Given the description of an element on the screen output the (x, y) to click on. 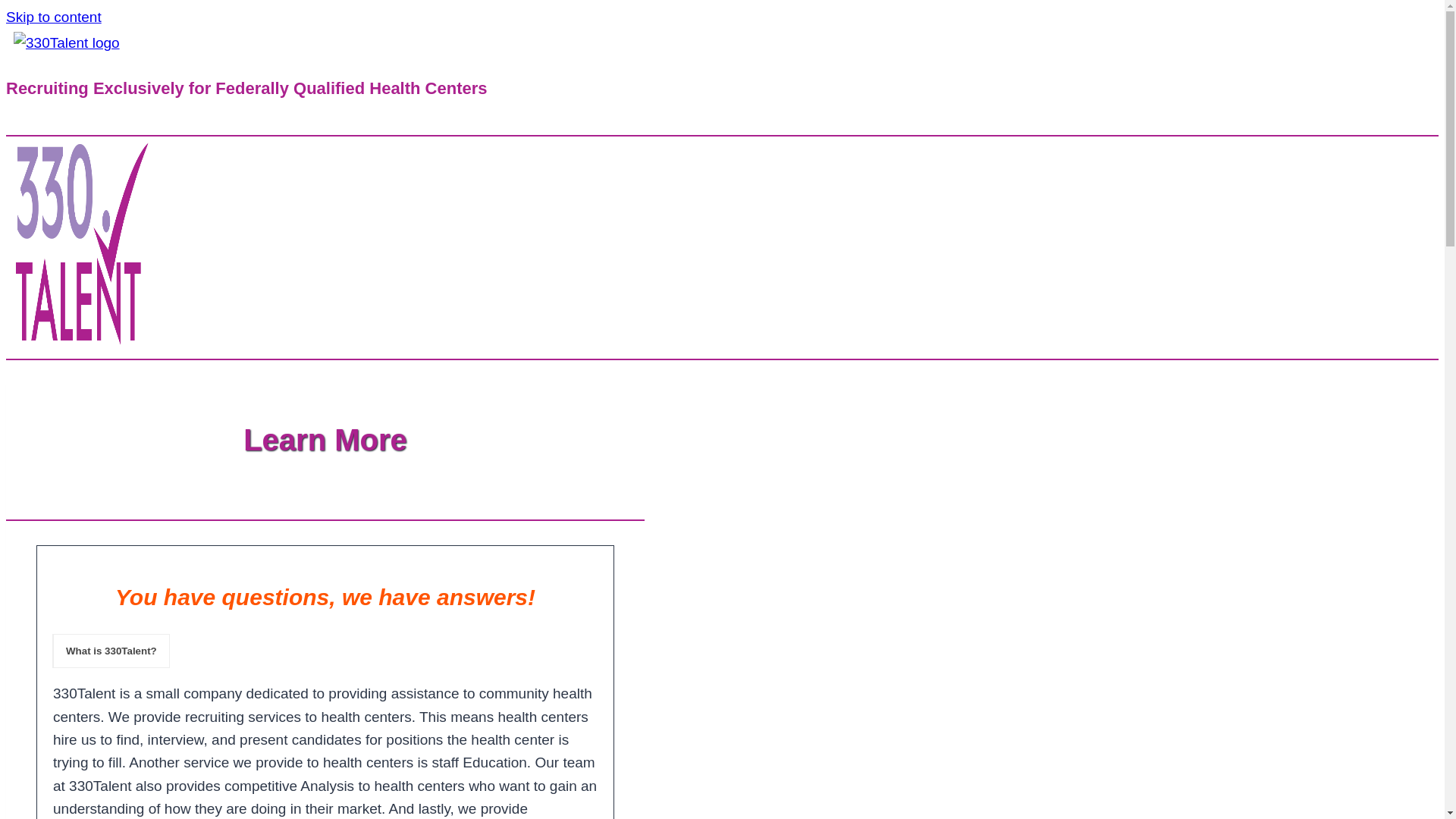
Skip to content Element type: text (53, 17)
What is 330Talent? Element type: text (110, 650)
